Given the description of an element on the screen output the (x, y) to click on. 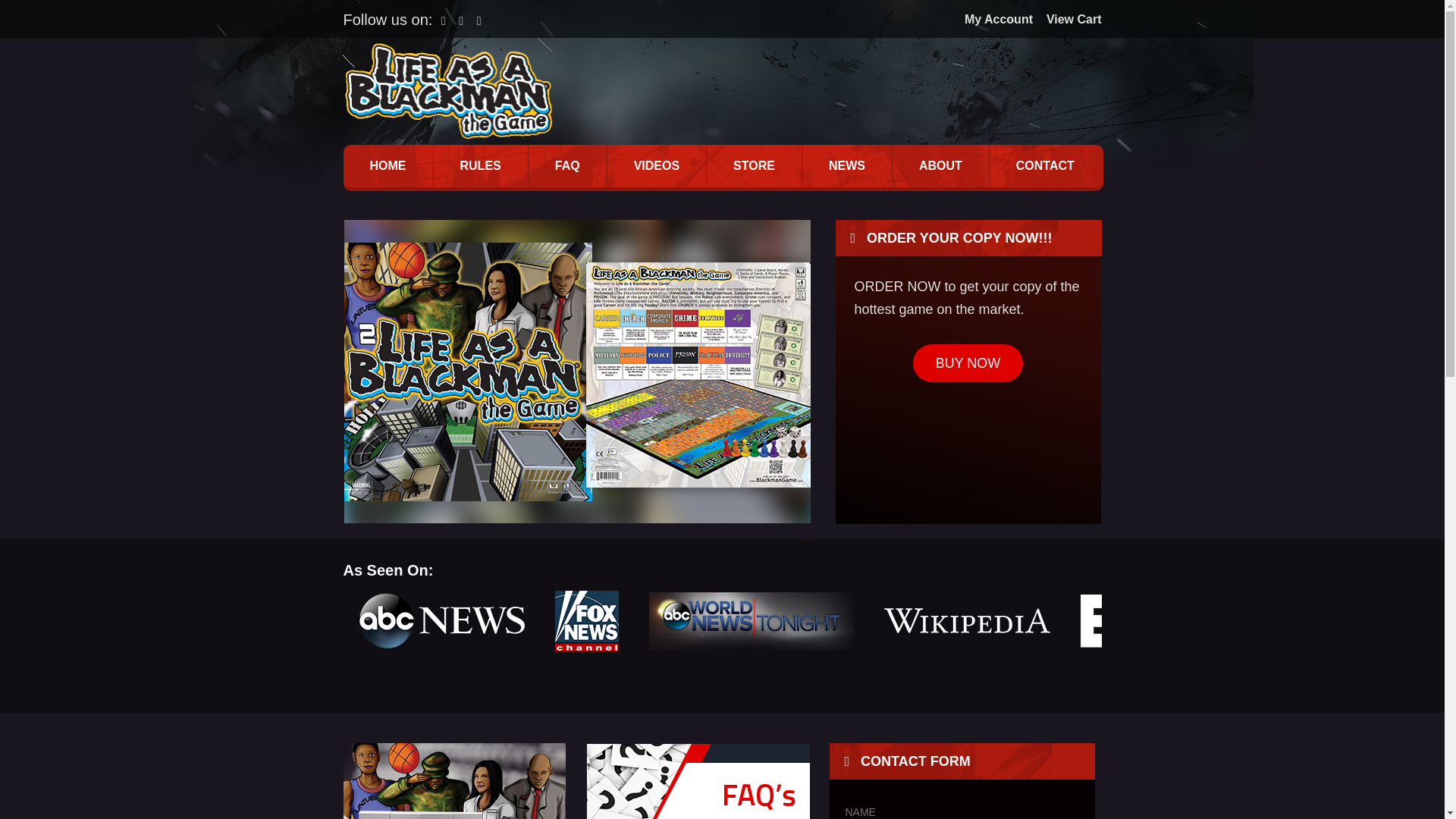
Next Page (26, 12)
NEWS (846, 165)
Name (960, 809)
Previous Page (36, 12)
View Cart (1068, 19)
BUY NOW (967, 362)
News (453, 780)
VIDEOS (656, 165)
Prev (362, 371)
CONTACT (1045, 165)
My Account (992, 19)
FAQ (567, 165)
ABOUT (940, 165)
RULES (479, 165)
Faq (697, 781)
